Given the description of an element on the screen output the (x, y) to click on. 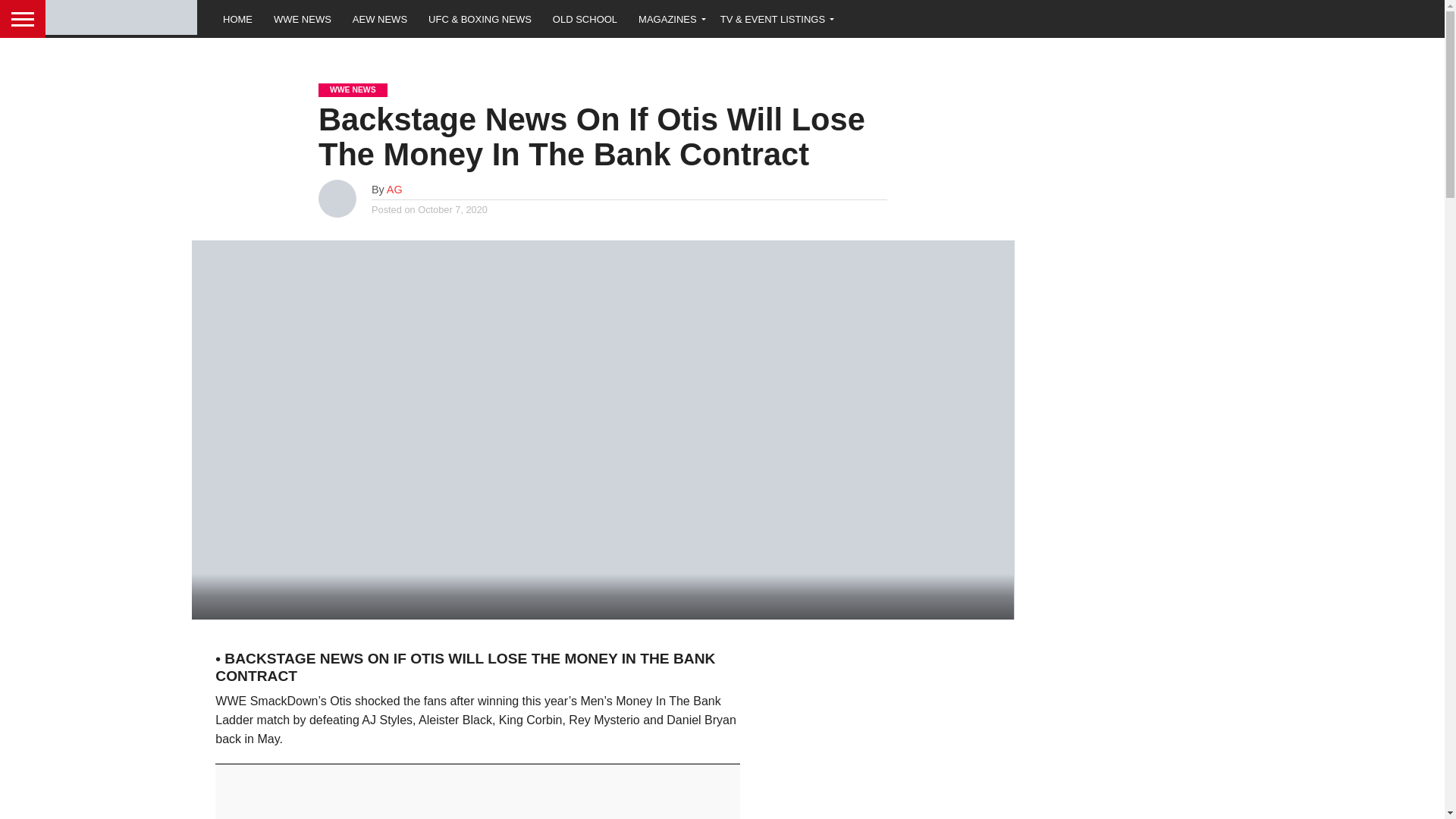
Posts by AG (395, 189)
MAGAZINES (668, 18)
OLD SCHOOL (584, 18)
HOME (237, 18)
WWE NEWS (302, 18)
AEW NEWS (379, 18)
